Given the description of an element on the screen output the (x, y) to click on. 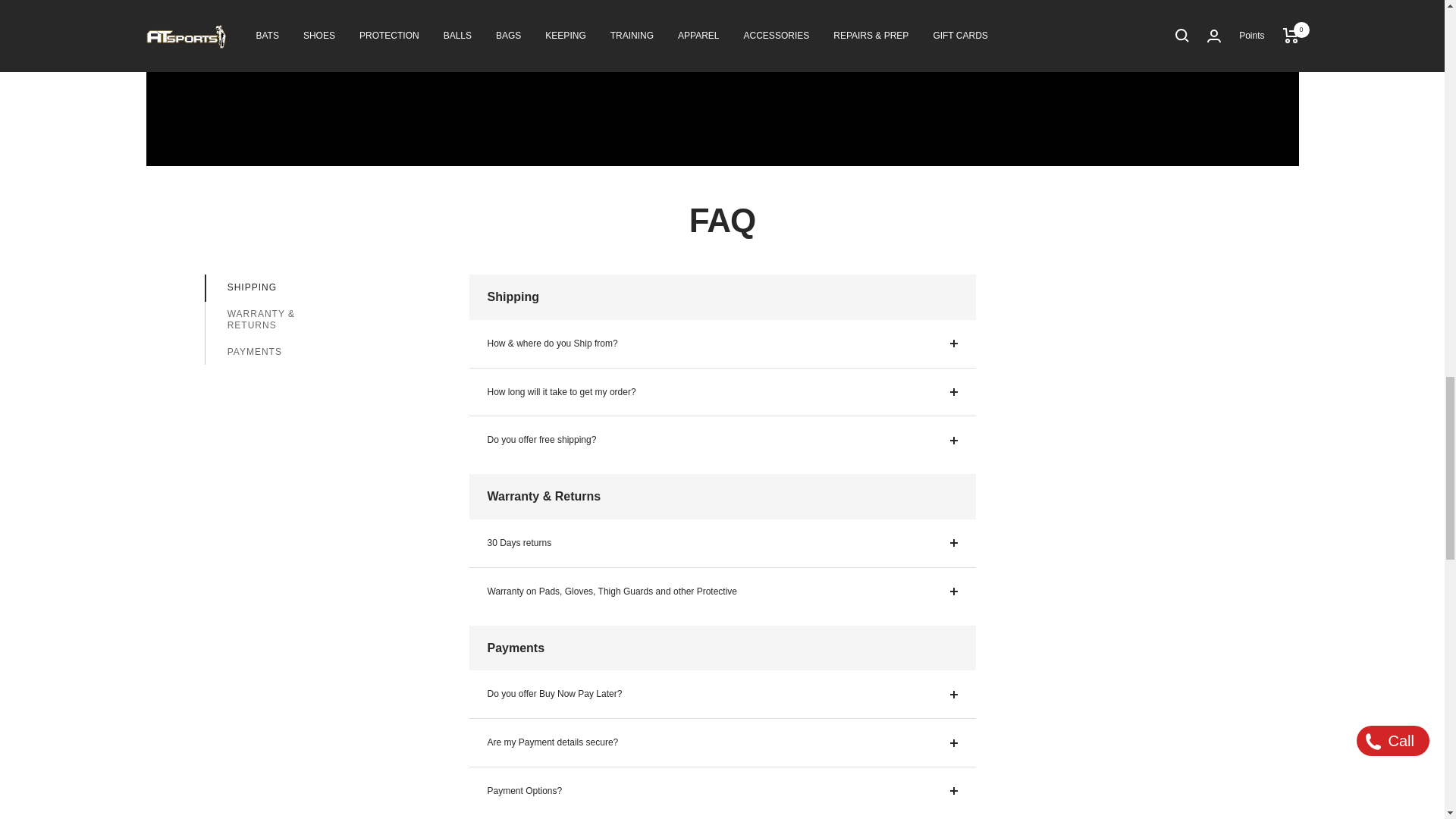
PAYMENTS (285, 352)
PAYMENTS (285, 352)
SHIPPING (285, 287)
SHIPPING (285, 287)
